Given the description of an element on the screen output the (x, y) to click on. 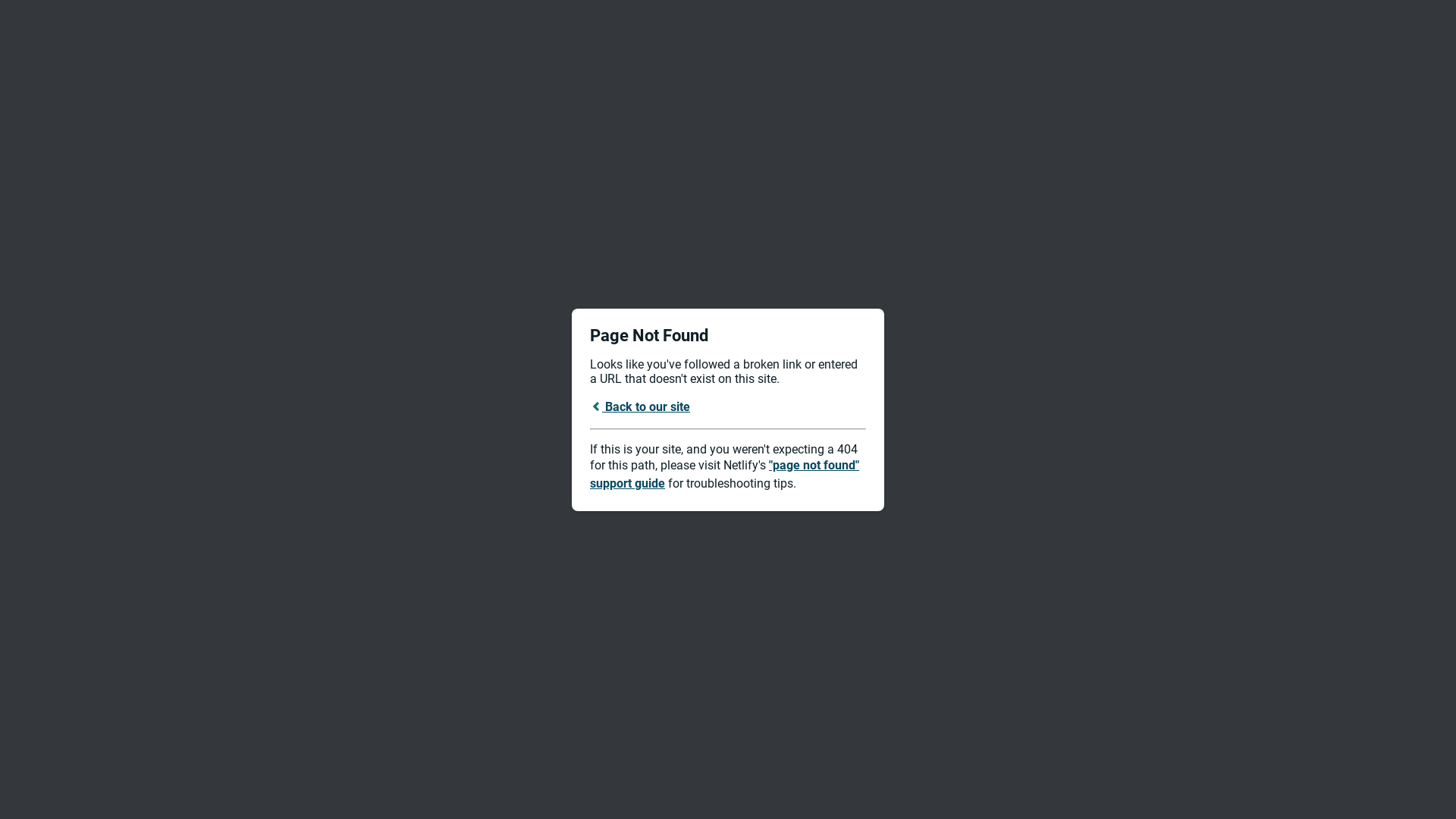
"page not found" support guide Element type: text (724, 474)
Back to our site Element type: text (639, 405)
